Given the description of an element on the screen output the (x, y) to click on. 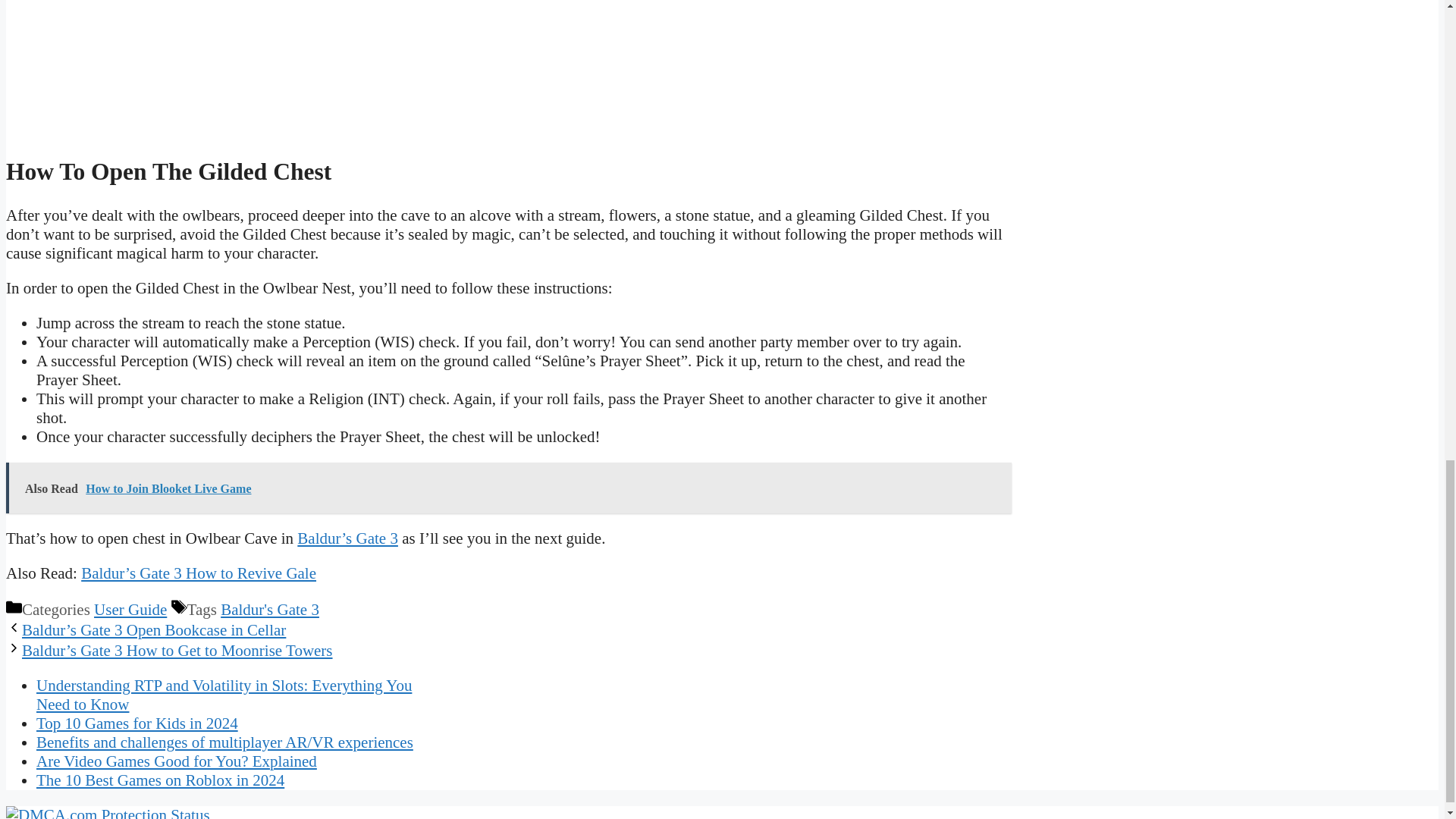
Also Read  How to Join Blooket Live Game (508, 487)
Top 10 Games for Kids in 2024 (137, 723)
User Guide (130, 609)
The 10 Best Games on Roblox in 2024 (159, 780)
Are Video Games Good for You? Explained (176, 761)
Baldur's Gate 3 (269, 609)
